Given the description of an element on the screen output the (x, y) to click on. 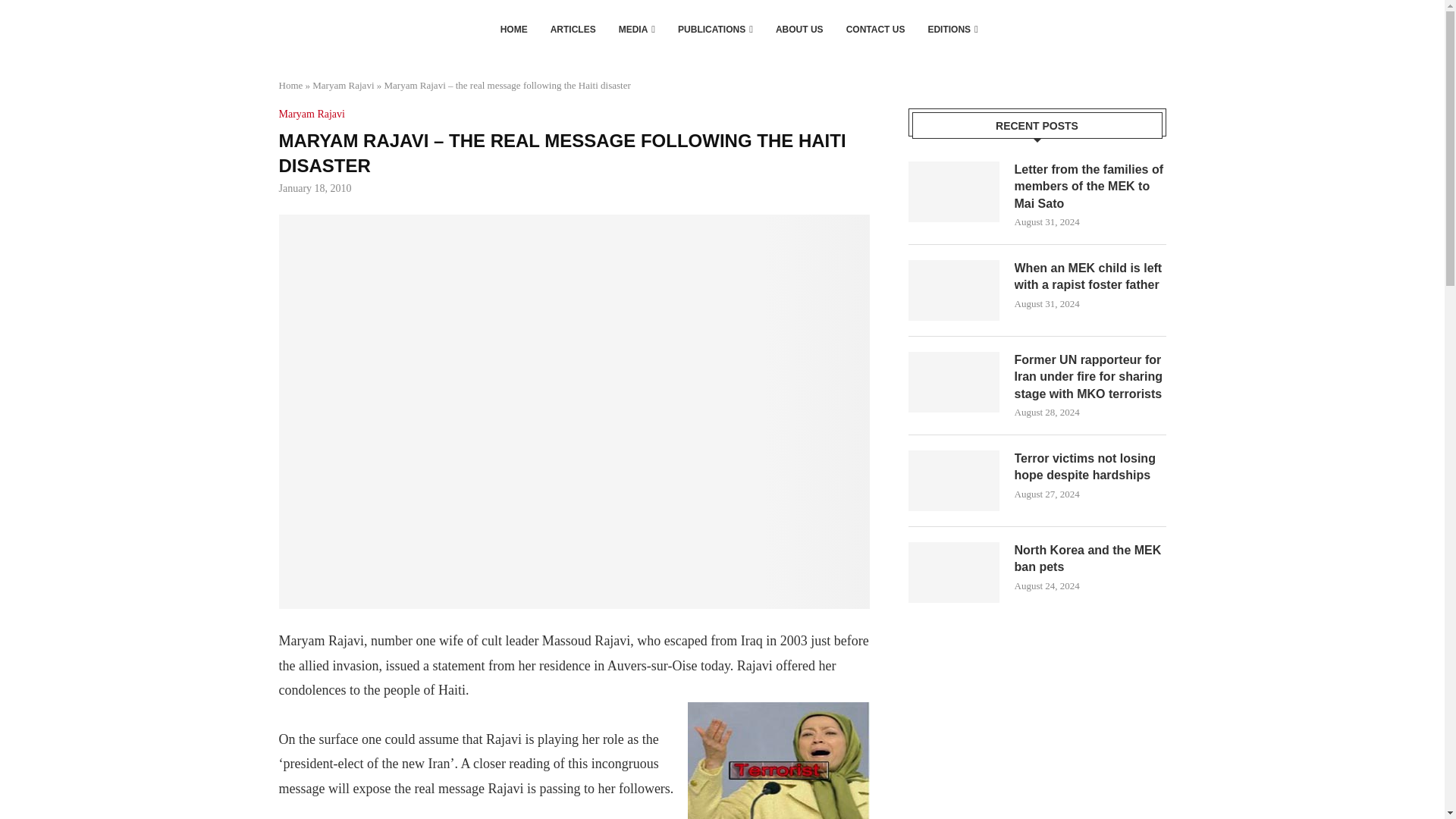
ARTICLES (572, 29)
CONTACT US (875, 29)
ABOUT US (800, 29)
Letter from the families of members of the MEK to Mai Sato (1090, 186)
PUBLICATIONS (715, 29)
When an MEK child is left with a rapist foster father (953, 290)
When an MEK child is left with a rapist foster father (1090, 277)
EDITIONS (951, 29)
Letter from the families of members of the MEK to Mai Sato (953, 191)
